Given the description of an element on the screen output the (x, y) to click on. 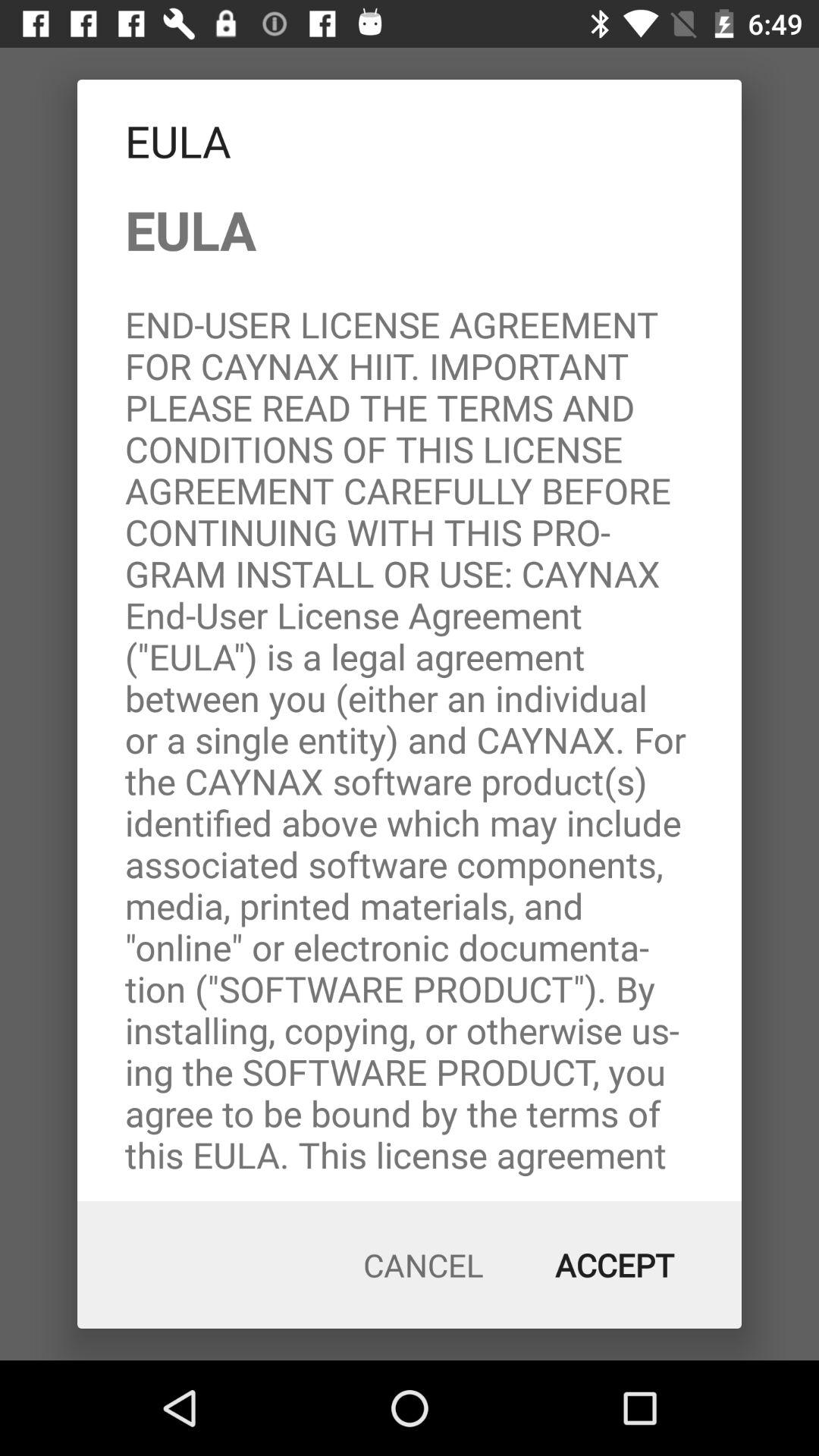
open the item to the left of the accept icon (422, 1264)
